Given the description of an element on the screen output the (x, y) to click on. 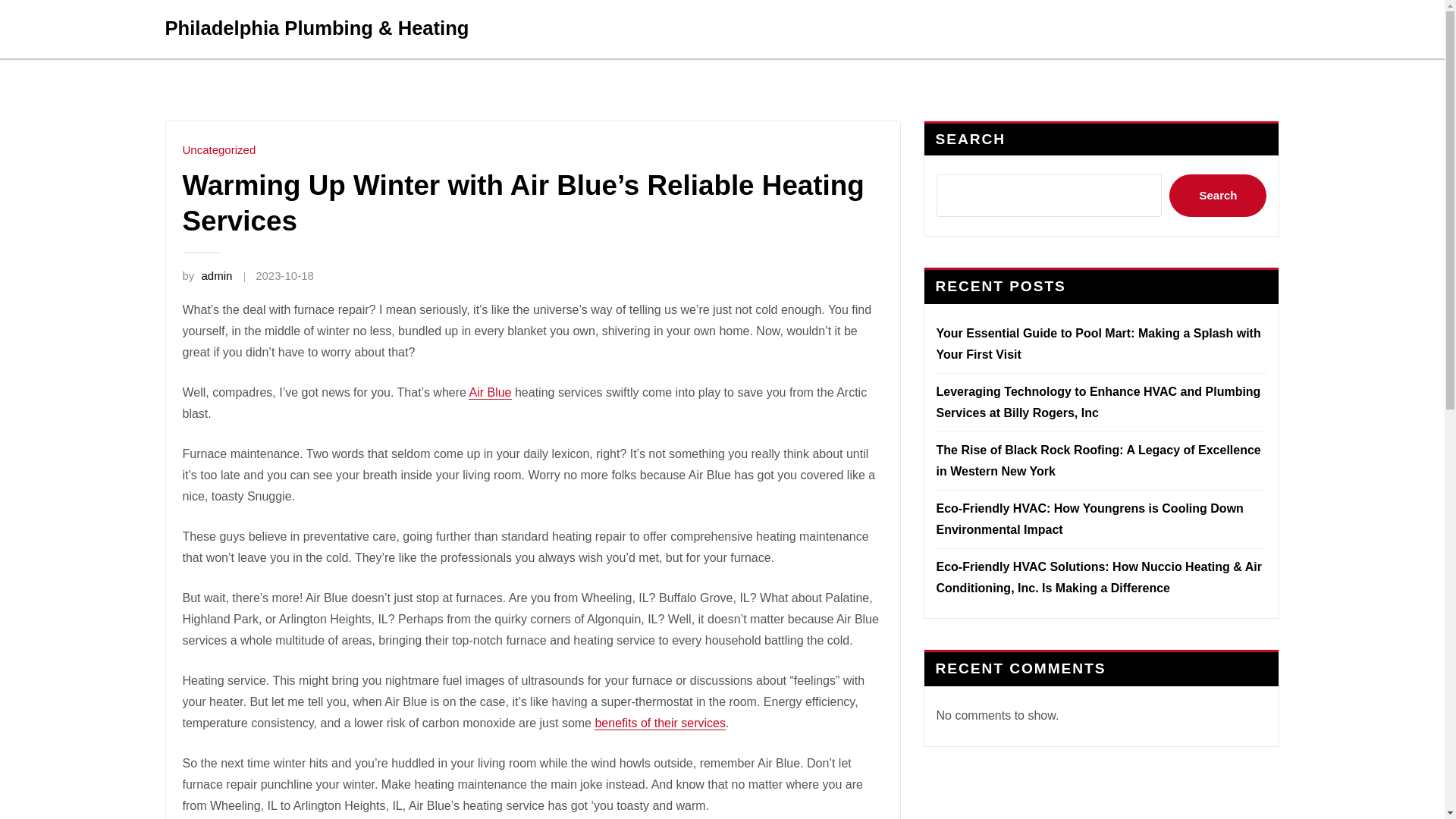
Search (1217, 195)
2023-10-18 (285, 275)
Uncategorized (219, 149)
Air Blue (489, 391)
by admin (206, 275)
benefits of their services (659, 722)
